Given the description of an element on the screen output the (x, y) to click on. 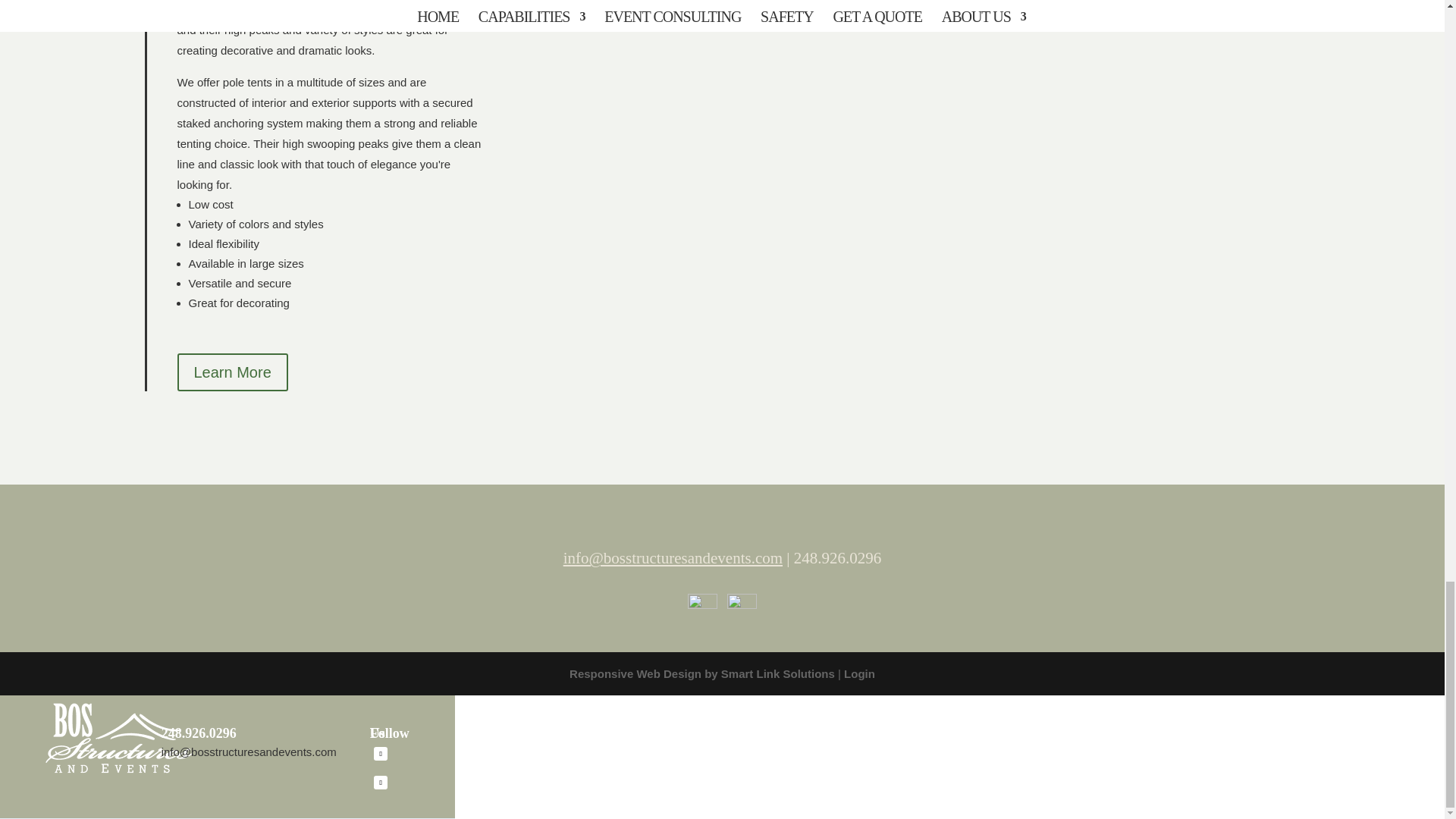
Responsive Web Design by Smart Link Solutions (701, 673)
Follow on Instagram (380, 782)
Follow on Facebook (380, 753)
Smart Link Solutions (701, 673)
Learn More (232, 371)
Login (859, 673)
